Given the description of an element on the screen output the (x, y) to click on. 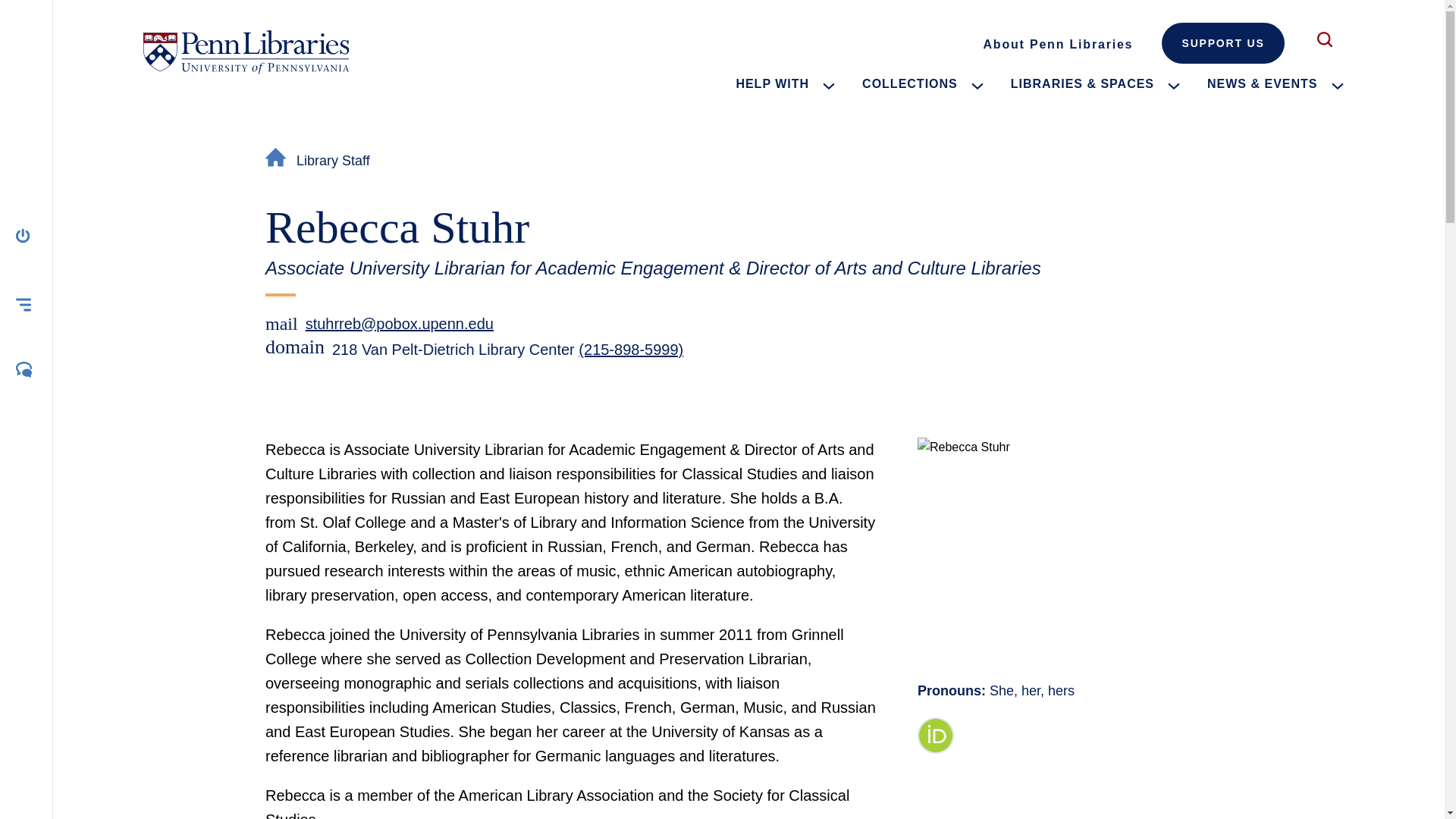
Penn Libraries logo (245, 52)
Support UsSupport Us (1222, 42)
